Given the description of an element on the screen output the (x, y) to click on. 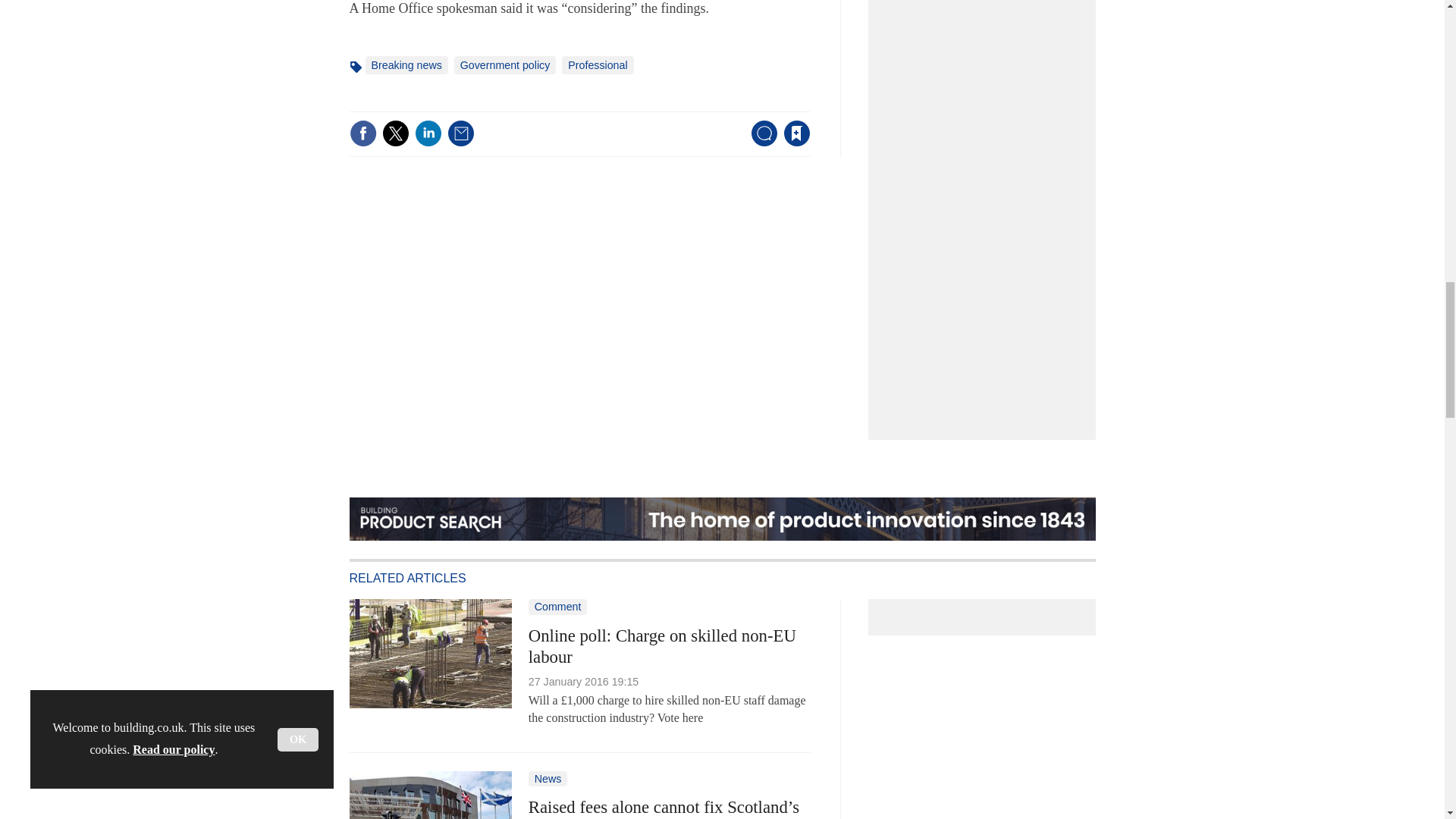
Share this on Twitter (395, 133)
Email this article (460, 133)
Share this on Linked in (427, 133)
Share this on Facebook (362, 133)
No comments (759, 142)
